Given the description of an element on the screen output the (x, y) to click on. 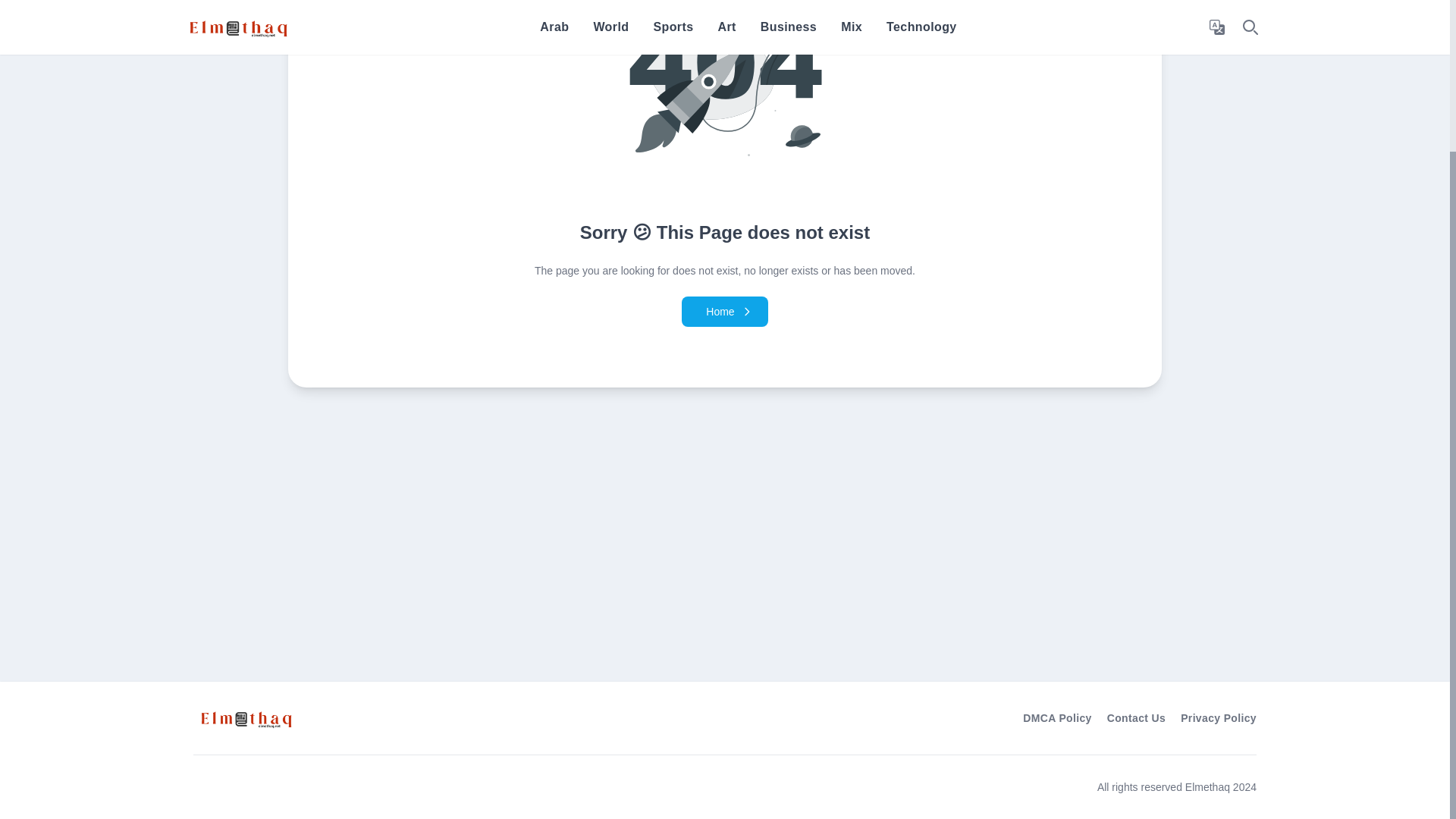
DMCA Policy (1056, 717)
Home (724, 311)
Privacy Policy (1218, 717)
Contact Us (1136, 717)
